Given the description of an element on the screen output the (x, y) to click on. 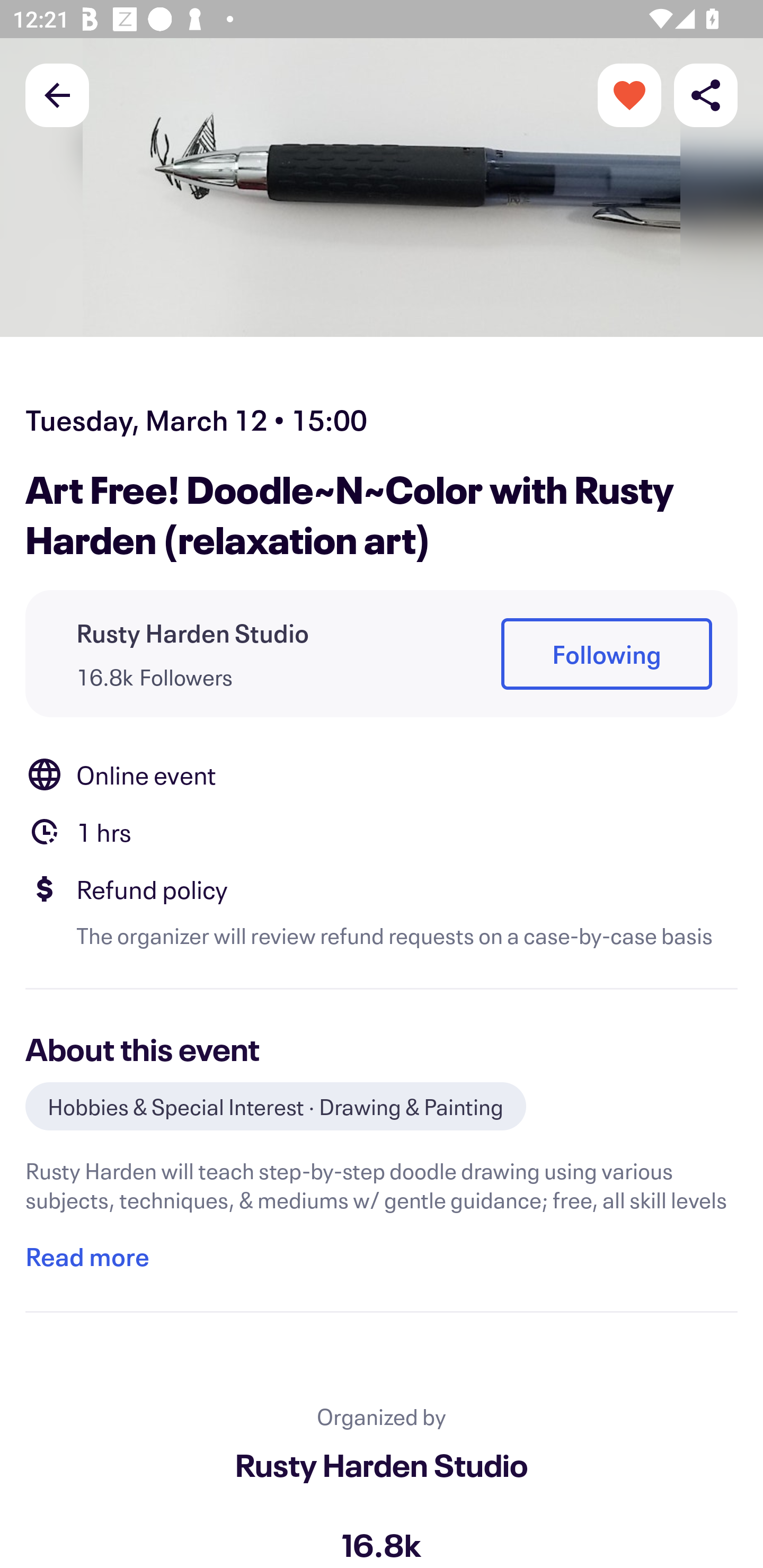
Back (57, 94)
More (629, 94)
Share (705, 94)
Rusty Harden Studio (192, 632)
Following (606, 654)
Location Online event (381, 774)
Read more (87, 1256)
Rusty Harden Studio (381, 1464)
